Given the description of an element on the screen output the (x, y) to click on. 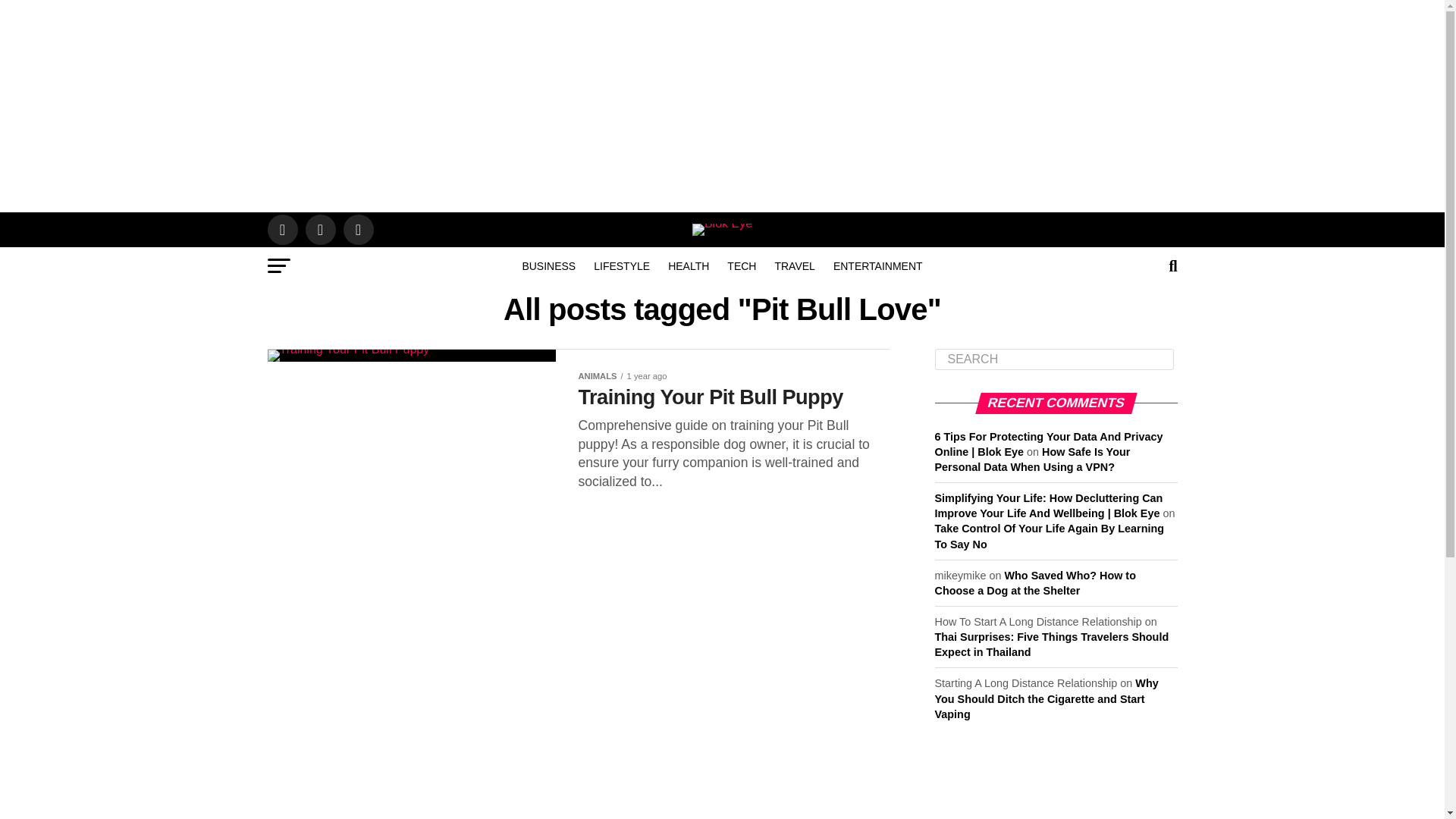
Search (1053, 359)
LIFESTYLE (622, 266)
HEALTH (688, 266)
BUSINESS (548, 266)
TRAVEL (794, 266)
TECH (741, 266)
